Given the description of an element on the screen output the (x, y) to click on. 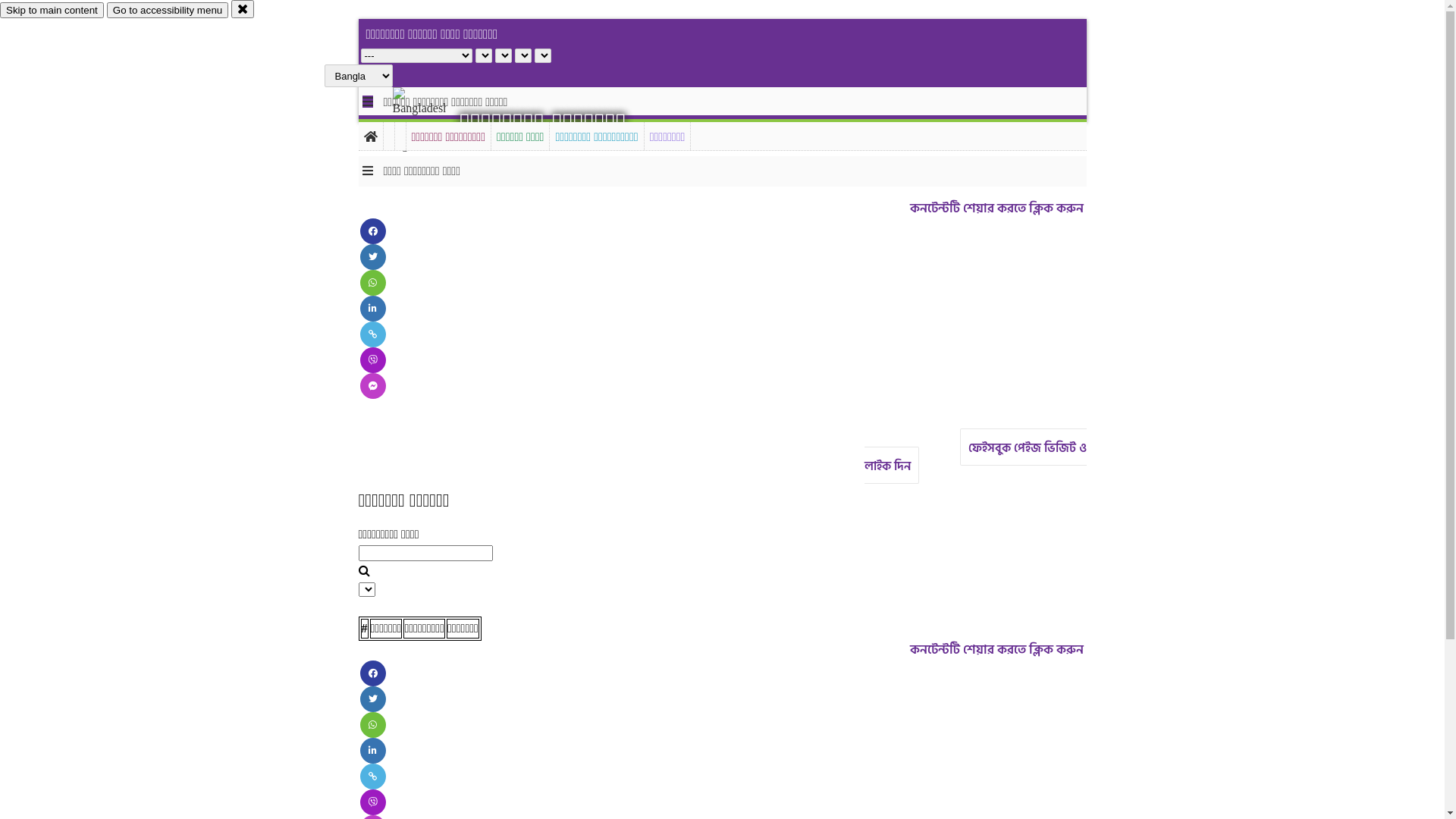
Skip to main content Element type: text (51, 10)
Go to accessibility menu Element type: text (167, 10)
close Element type: hover (242, 9)

                
             Element type: hover (431, 120)
